Given the description of an element on the screen output the (x, y) to click on. 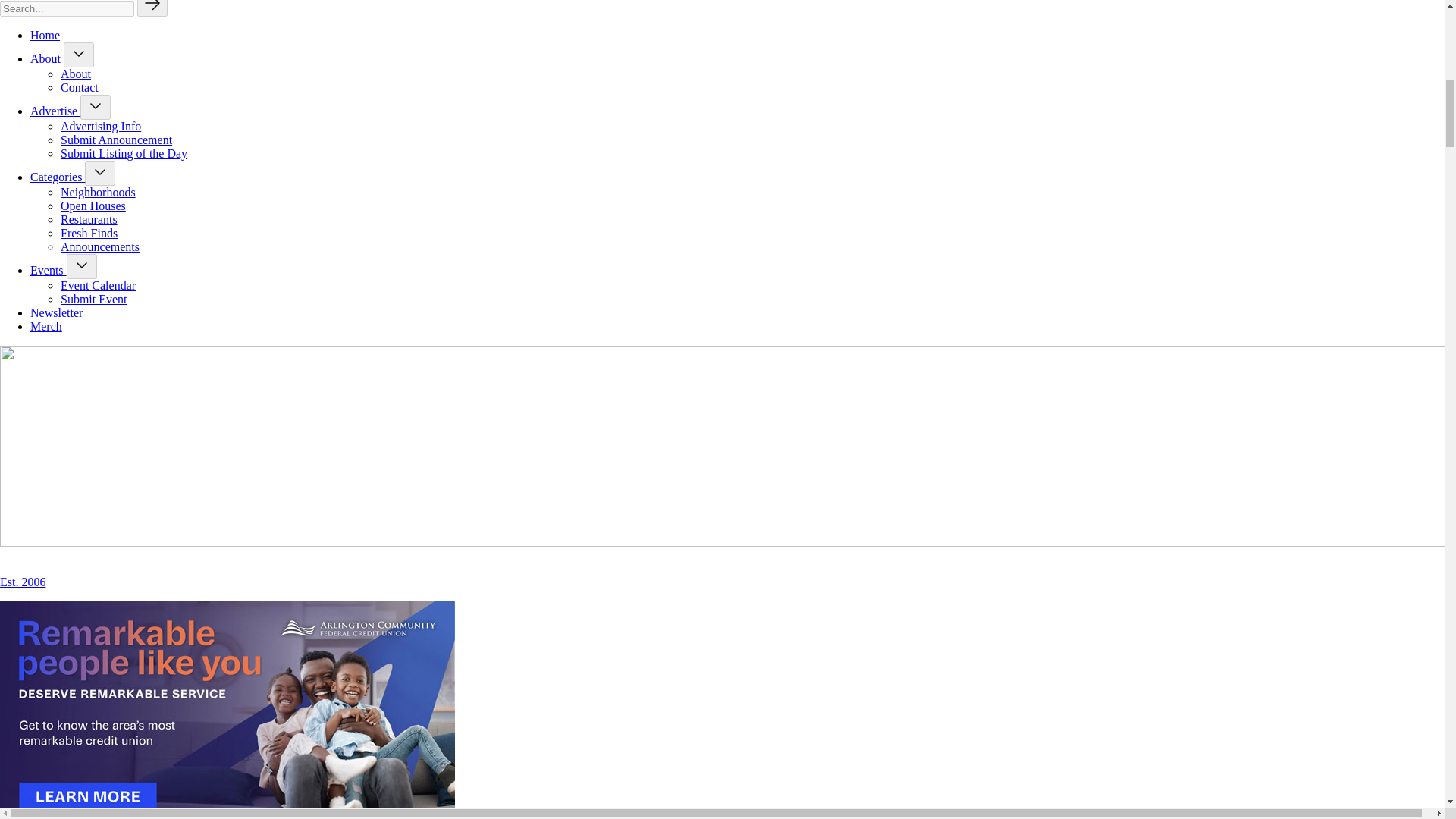
Remarkable People Like You PoPville (227, 710)
